Given the description of an element on the screen output the (x, y) to click on. 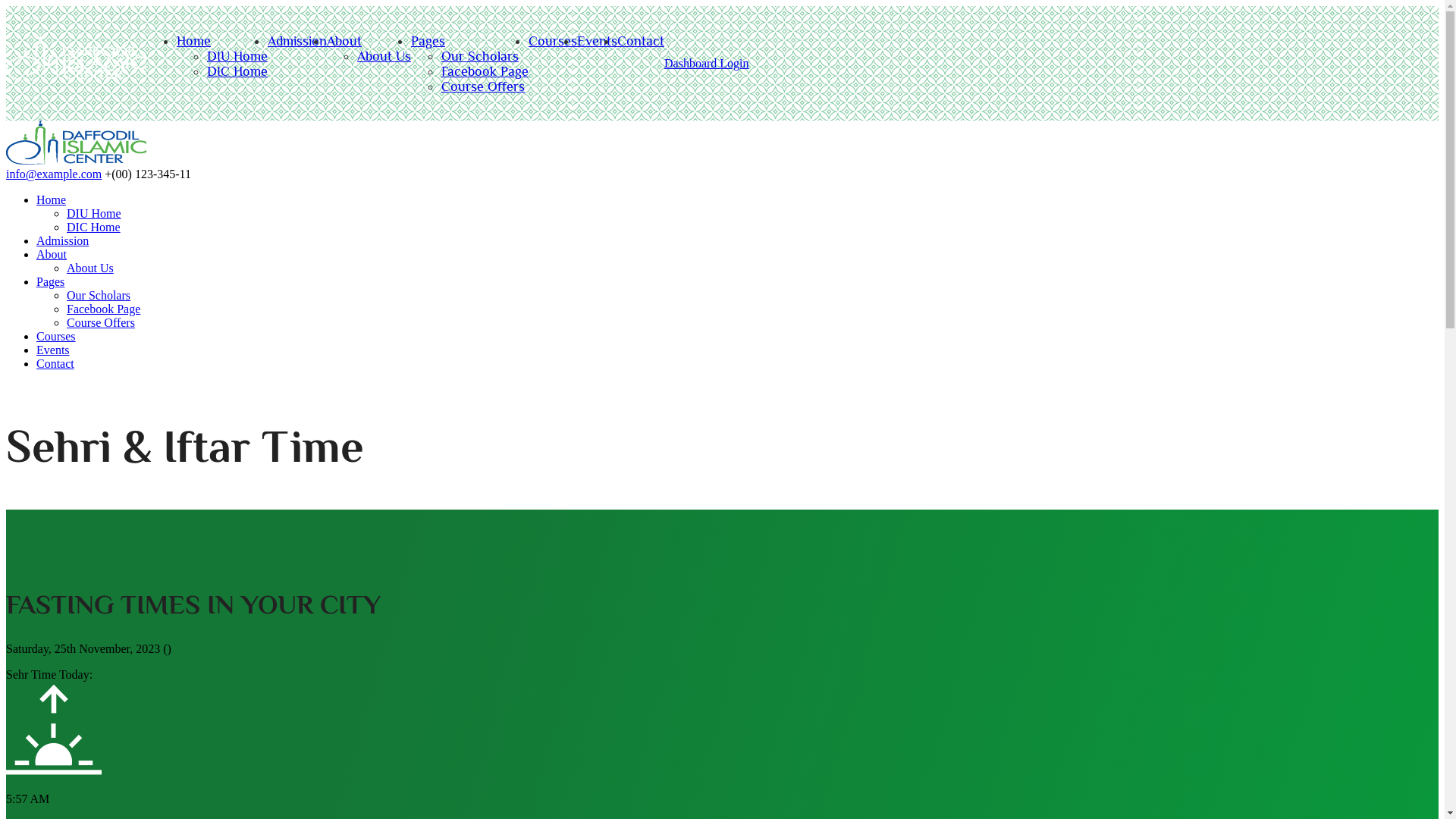
info@example.com Element type: text (53, 173)
About Us Element type: text (89, 267)
Our Scholars Element type: text (479, 55)
About Us Element type: text (384, 55)
About Element type: text (343, 40)
Admission Element type: text (296, 40)
About Element type: text (51, 253)
DIU Home Element type: text (93, 213)
DIU Home Element type: text (237, 55)
Courses Element type: text (552, 40)
Events Element type: text (597, 40)
Admission Element type: text (62, 240)
DIC Home Element type: text (237, 70)
Facebook Page Element type: text (484, 70)
Home Element type: hover (76, 159)
Contact Element type: text (55, 363)
Our Scholars Element type: text (98, 294)
Course Offers Element type: text (100, 322)
Pages Element type: text (428, 40)
Events Element type: text (52, 349)
DIC Home Element type: text (93, 226)
Home Element type: text (193, 40)
Dashboard Login Element type: text (706, 62)
Course Offers Element type: text (482, 86)
Contact Element type: text (640, 40)
Facebook Page Element type: text (103, 308)
Courses Element type: text (55, 335)
Pages Element type: text (50, 281)
Home Element type: text (50, 199)
